Given the description of an element on the screen output the (x, y) to click on. 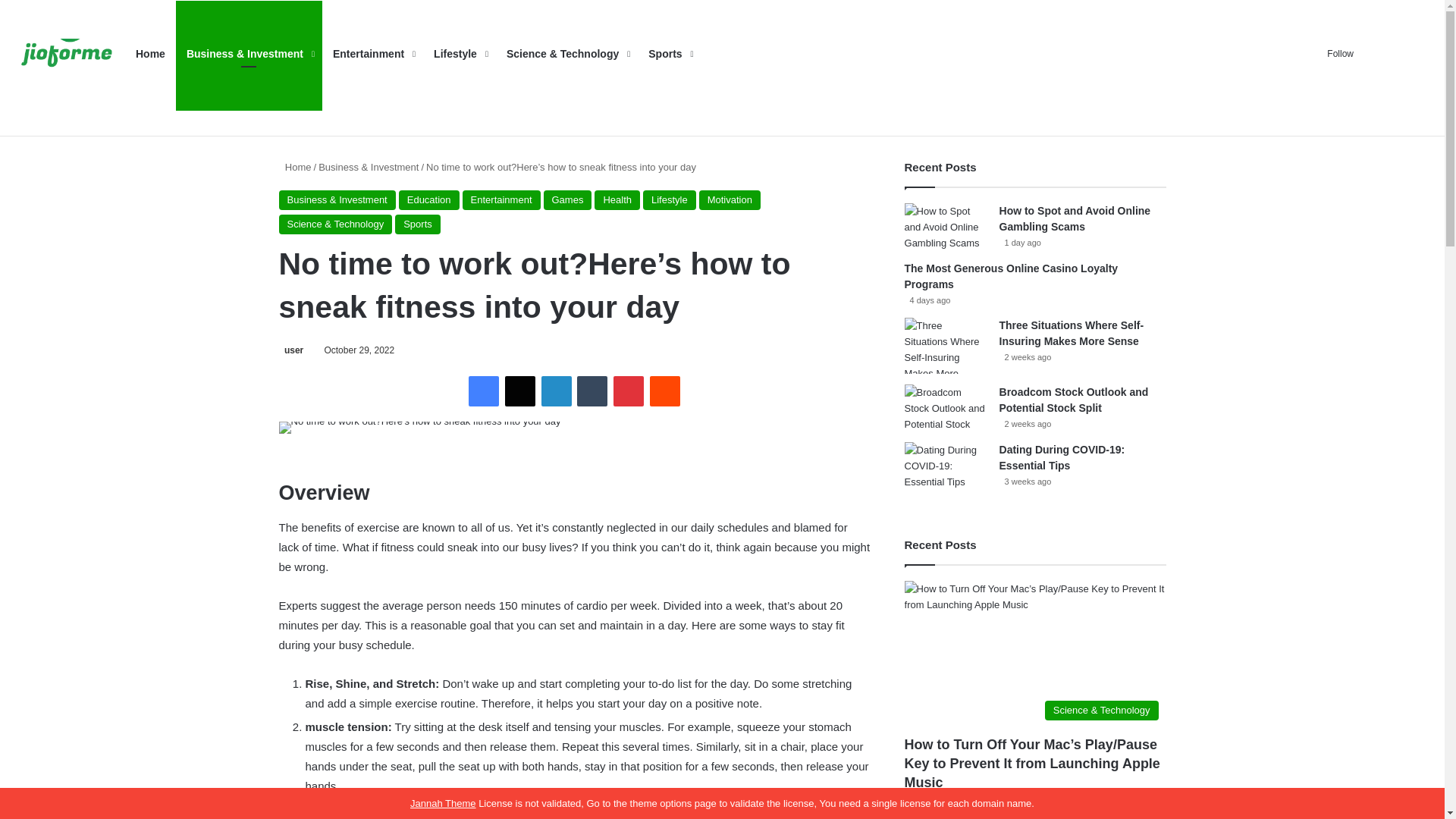
X (520, 390)
Facebook (483, 390)
Home (295, 166)
Tumblr (591, 390)
Reddit (664, 390)
Motivation (729, 199)
Education (429, 199)
Pinterest (627, 390)
Health (617, 199)
Entertainment (372, 53)
LinkedIn (556, 390)
Entertainment (501, 199)
Jannah Theme (443, 803)
Games (567, 199)
Lifestyle (669, 199)
